Given the description of an element on the screen output the (x, y) to click on. 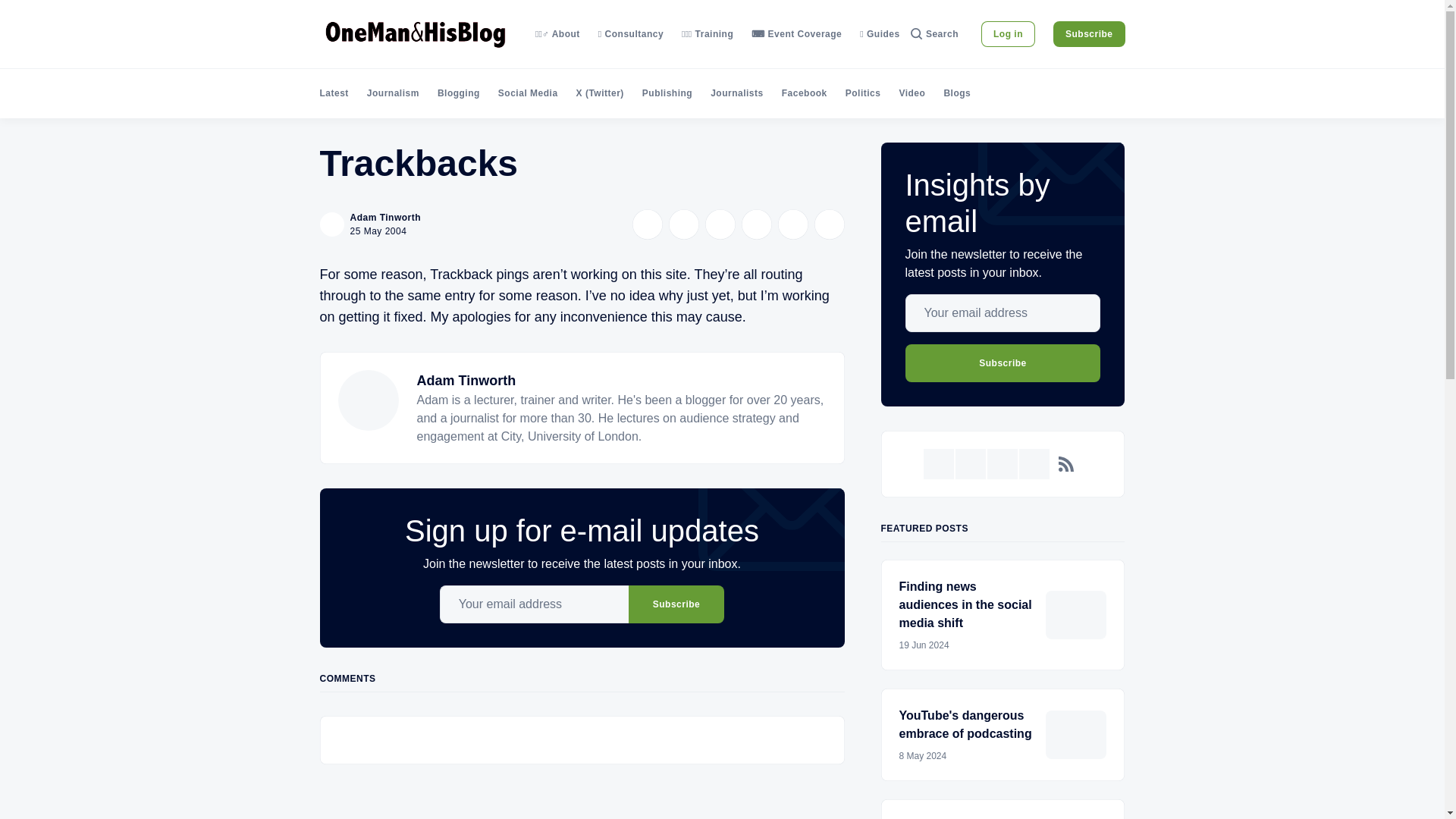
Twitter (938, 463)
Adam Tinworth (466, 380)
Log in (1008, 33)
Adam Tinworth (386, 217)
Journalists (736, 92)
Copy link (828, 224)
Share via Email (792, 224)
Share on Pinterest (756, 224)
Subscribe (1002, 362)
Instagram (1002, 463)
